Given the description of an element on the screen output the (x, y) to click on. 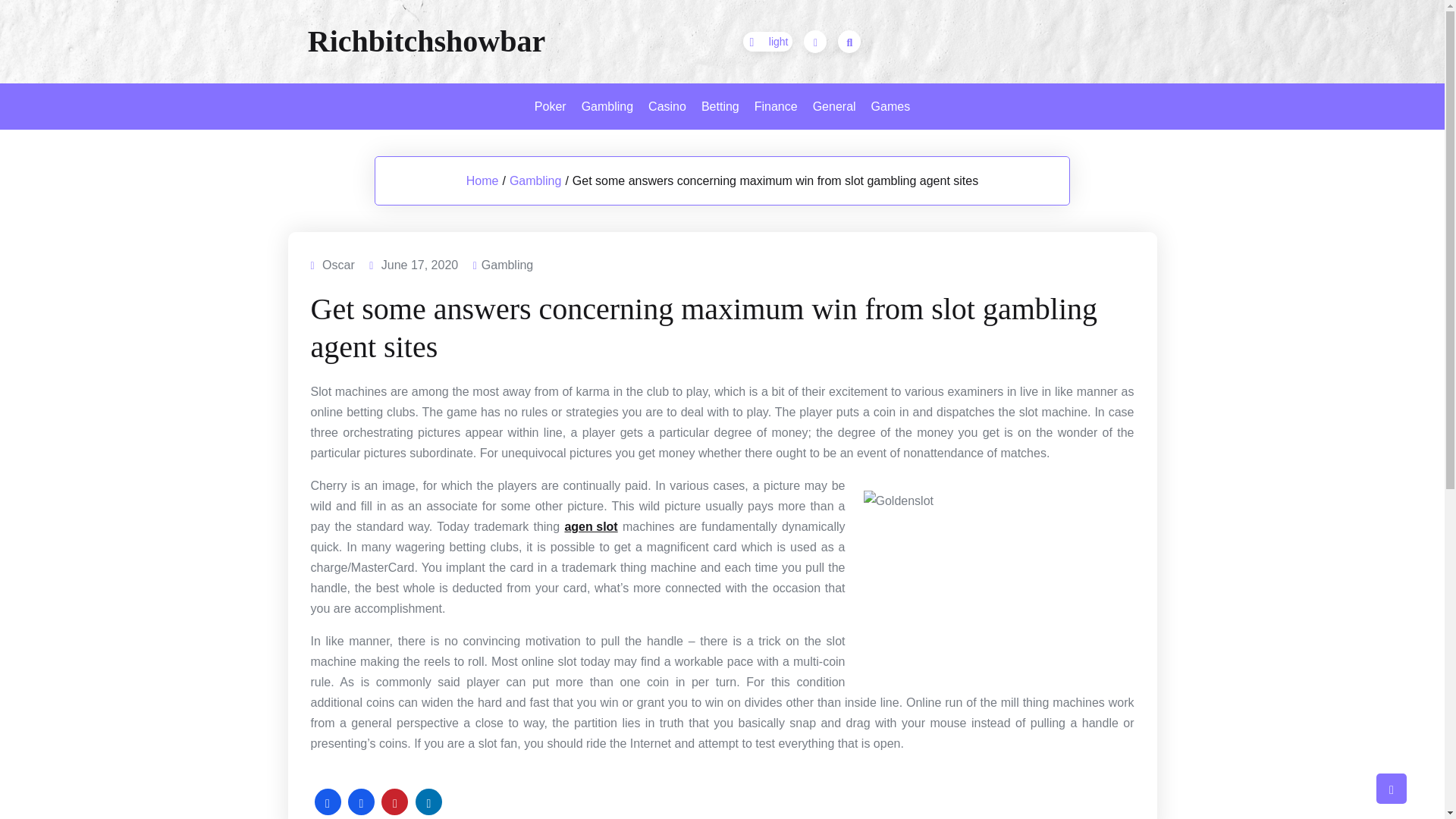
Gambling (534, 180)
Games (890, 106)
Finance (775, 106)
Richbitchshowbar (425, 41)
Gambling (606, 106)
June 17, 2020 (419, 264)
Poker (550, 106)
Home (482, 180)
Gambling (506, 264)
General (834, 106)
Casino (667, 106)
on (767, 41)
agen slot (590, 526)
Betting (720, 106)
